Given the description of an element on the screen output the (x, y) to click on. 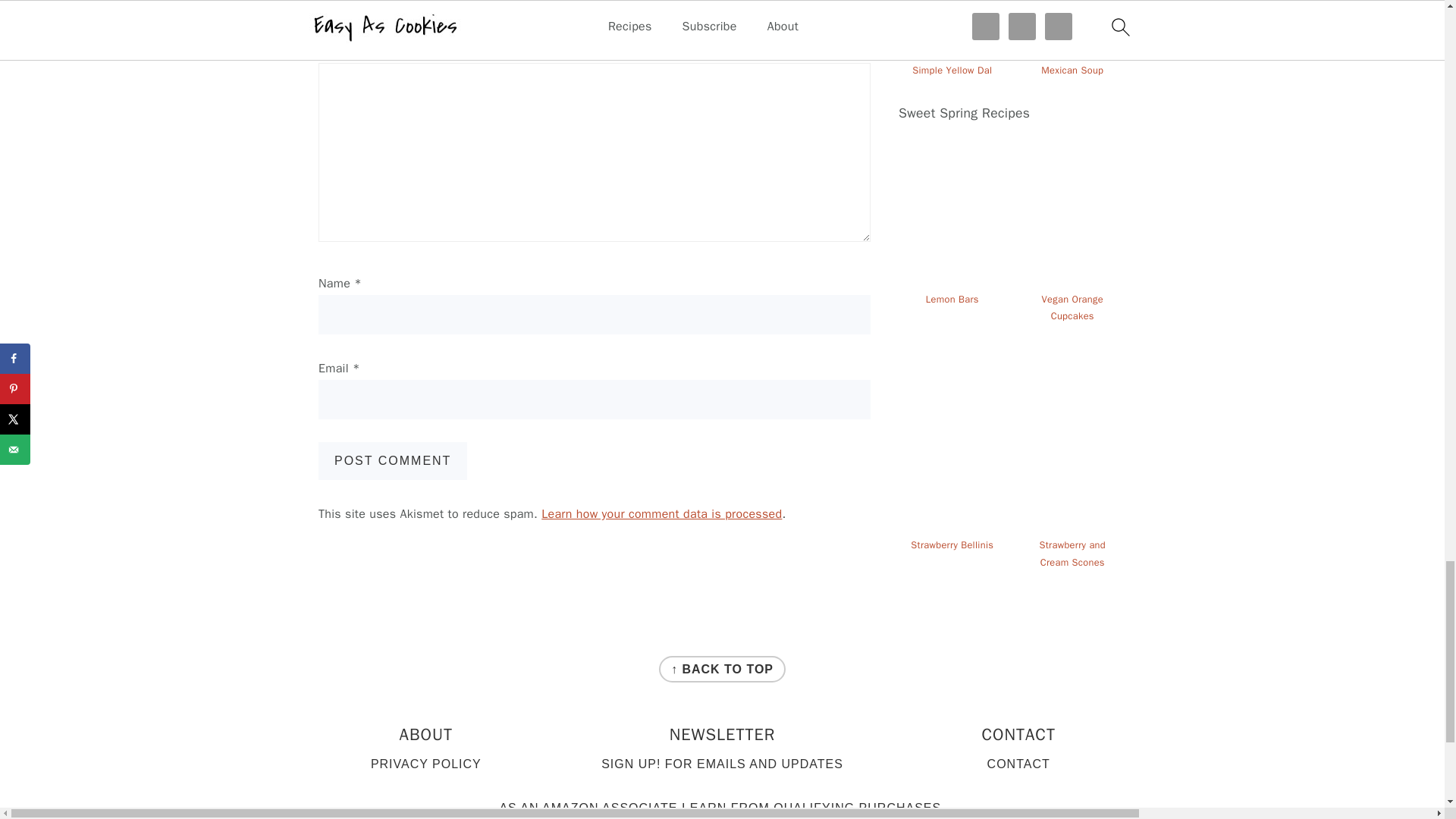
Post Comment (392, 460)
Post Comment (392, 460)
Learn how your comment data is processed (661, 513)
